Given the description of an element on the screen output the (x, y) to click on. 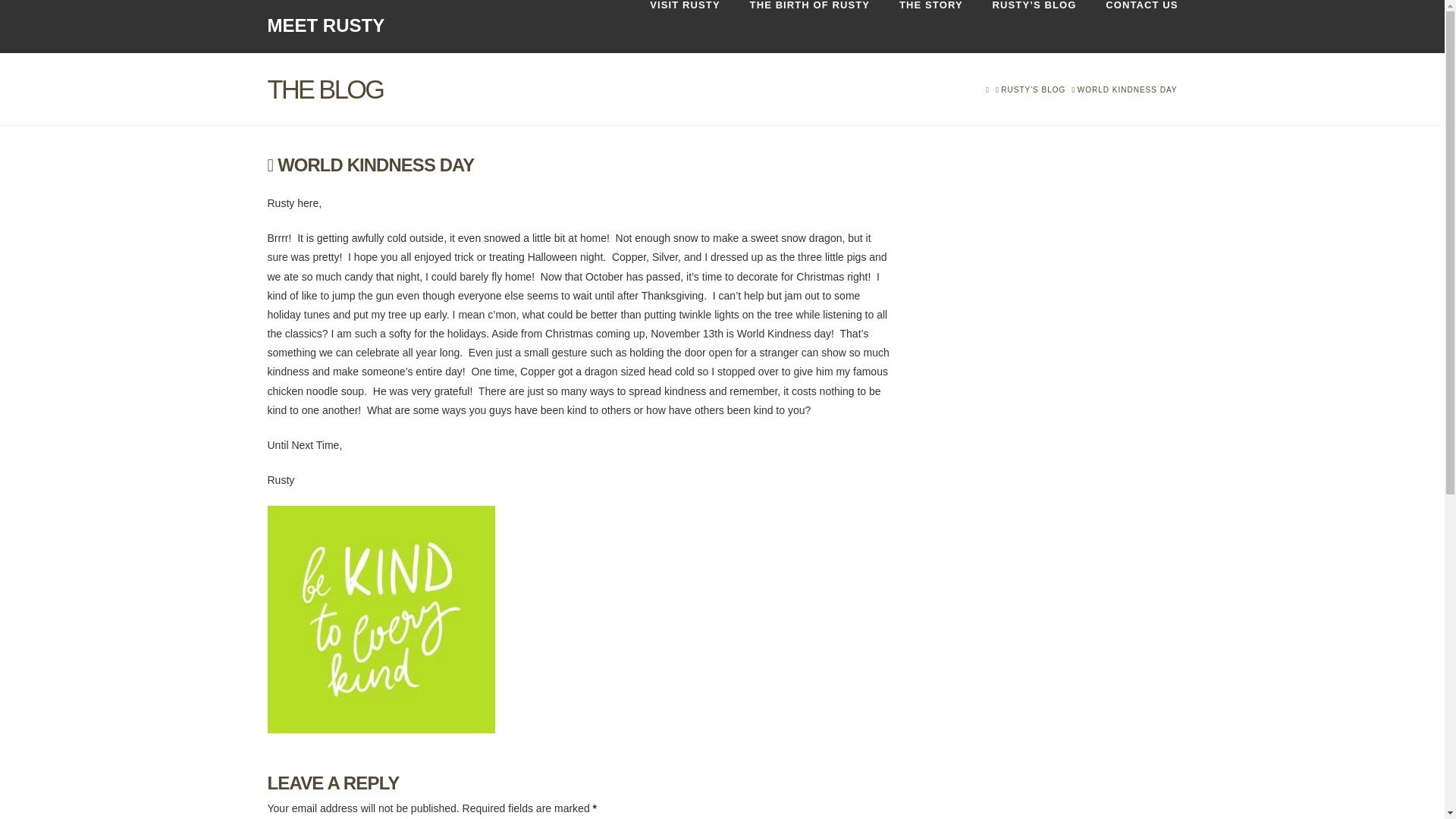
THE BIRTH OF RUSTY (809, 26)
WORLD KINDNESS DAY (1127, 90)
You Are Here (1127, 90)
VISIT RUSTY (683, 26)
CONTACT US (1133, 26)
THE STORY (929, 26)
RUSTY'S BLOG (1033, 90)
MEET RUSTY (325, 25)
